Given the description of an element on the screen output the (x, y) to click on. 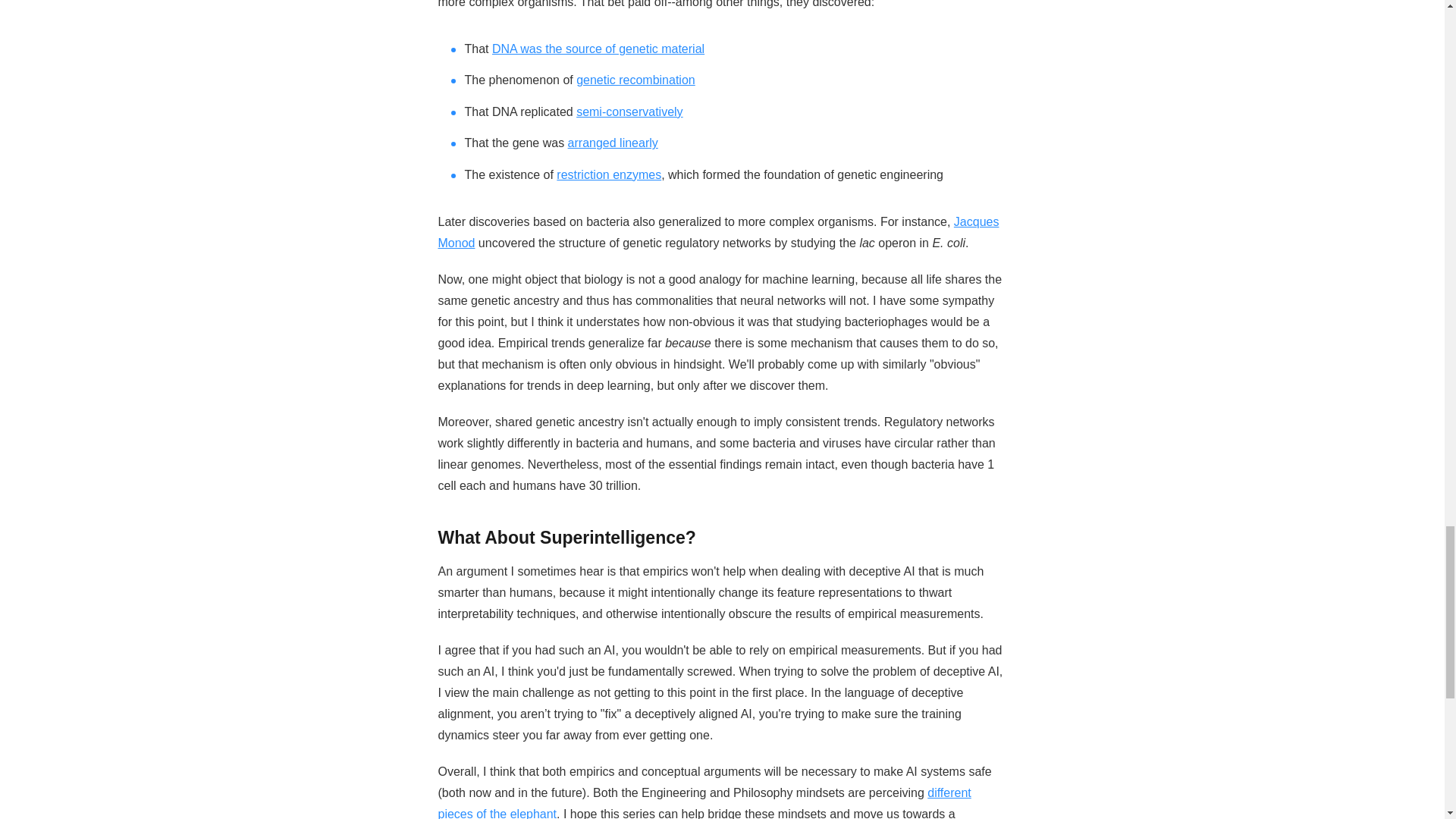
arranged linearly (612, 142)
Jacques Monod (718, 232)
semi-conservatively (629, 111)
genetic recombination (635, 79)
restriction enzymes (608, 174)
DNA was the source of genetic material (598, 48)
different pieces of the elephant (704, 802)
